Given the description of an element on the screen output the (x, y) to click on. 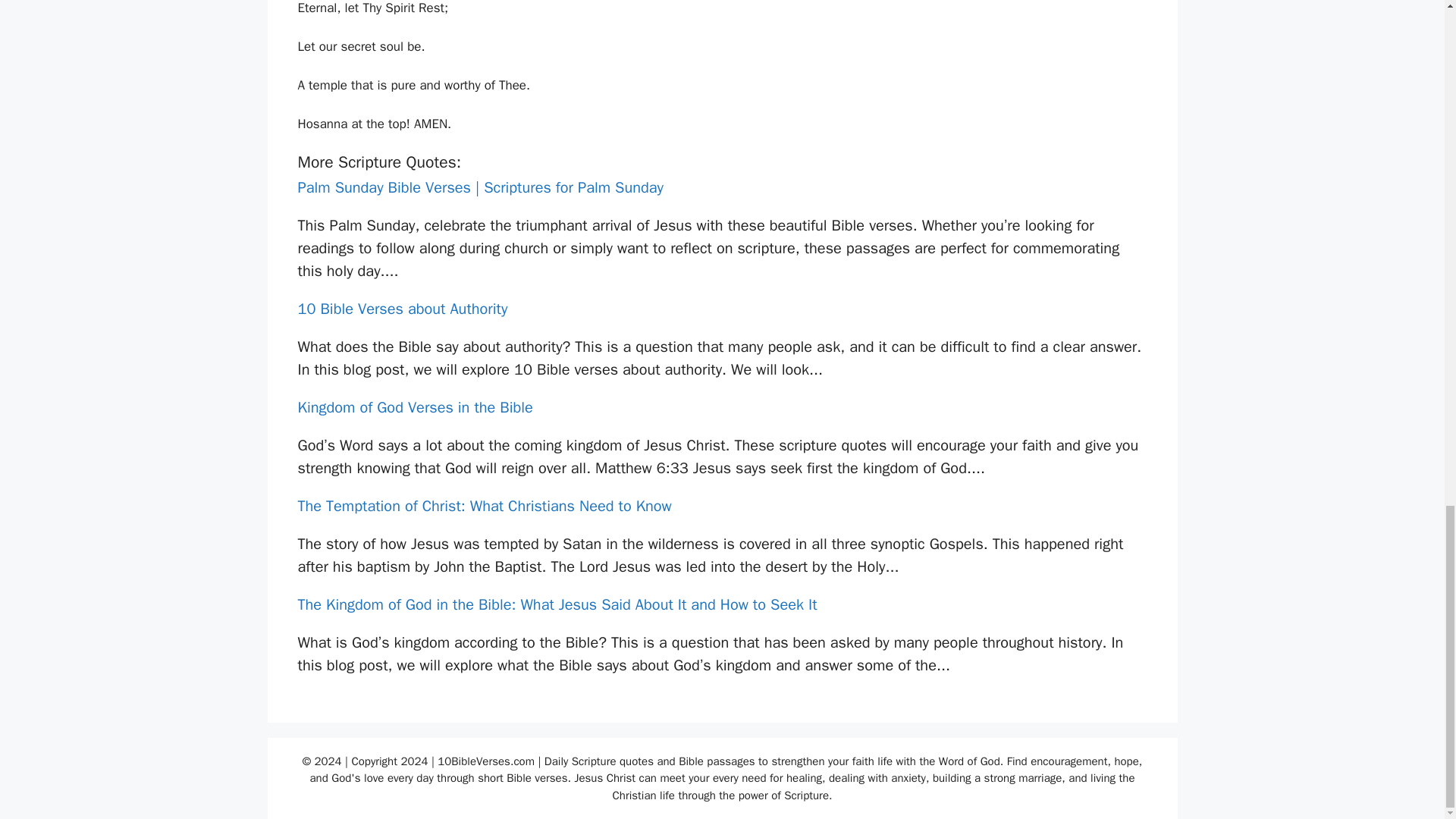
10 Bible Verses about Authority (401, 308)
The Temptation of Christ: What Christians Need to Know (484, 505)
The Temptation of Christ: What Christians Need to Know (484, 505)
Kingdom of God Verses in the Bible (414, 407)
10 Bible Verses about Authority (401, 308)
Kingdom of God Verses in the Bible (414, 407)
